Given the description of an element on the screen output the (x, y) to click on. 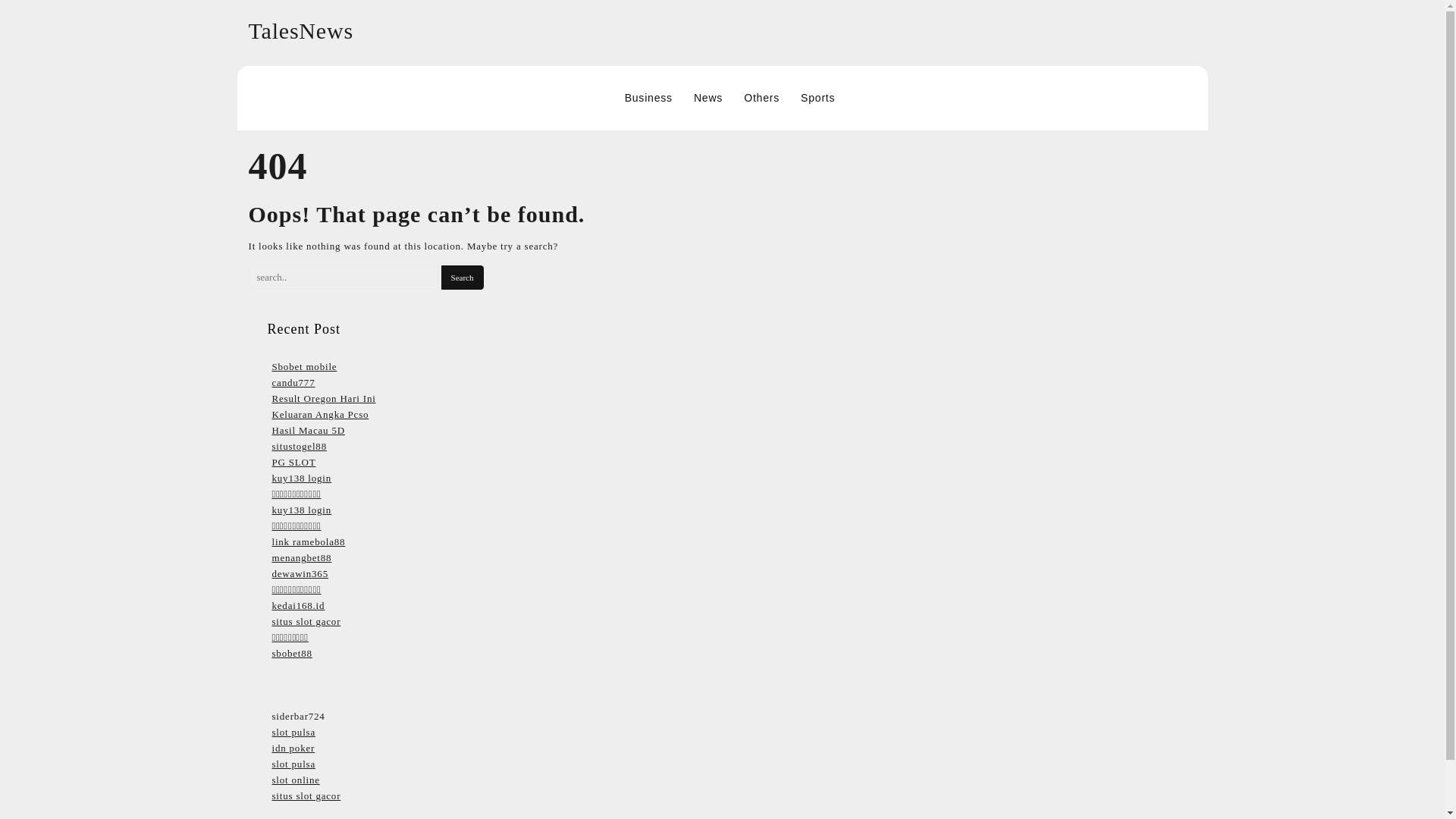
slot pulsa (292, 731)
slot pulsa (292, 763)
situs slot gacor (305, 621)
menangbet88 (300, 557)
TalesNews (300, 30)
Keluaran Angka Pcso (319, 414)
Search (462, 277)
Search (462, 277)
link ramebola88 (307, 541)
kuy138 login (300, 509)
Hasil Macau 5D (306, 430)
sbobet88 (290, 653)
Business (648, 98)
News (708, 98)
kedai168.id (297, 604)
